Given the description of an element on the screen output the (x, y) to click on. 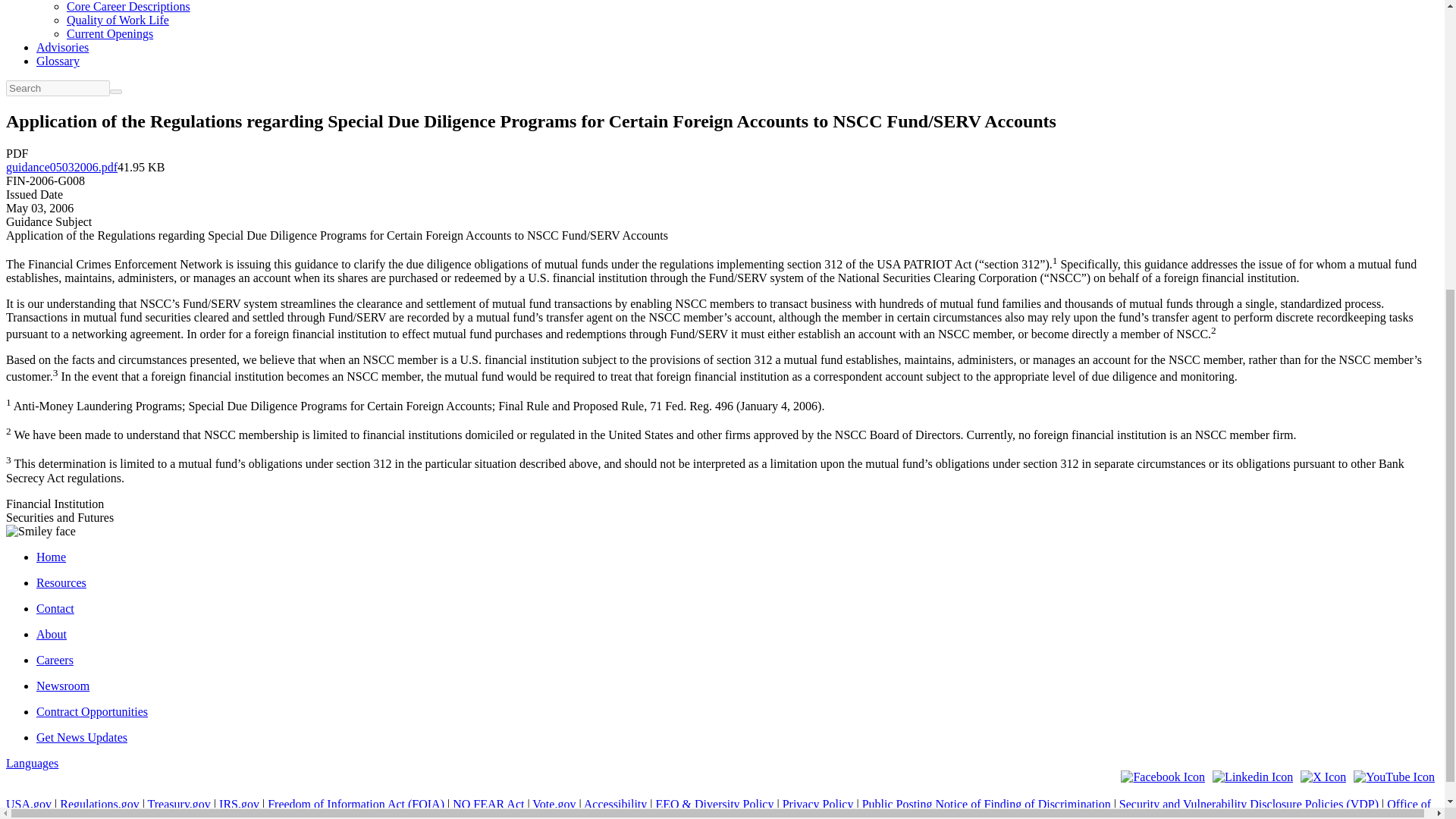
Quality of Work Life (117, 19)
Glossary (58, 60)
Enter the terms you wish to search for. (57, 88)
Current Openings (109, 33)
guidance05032006.pdf (61, 166)
Core Career Descriptions (128, 6)
Search (116, 91)
Advisories (62, 47)
Quality of Work Life (117, 19)
Current Openings (109, 33)
